Given the description of an element on the screen output the (x, y) to click on. 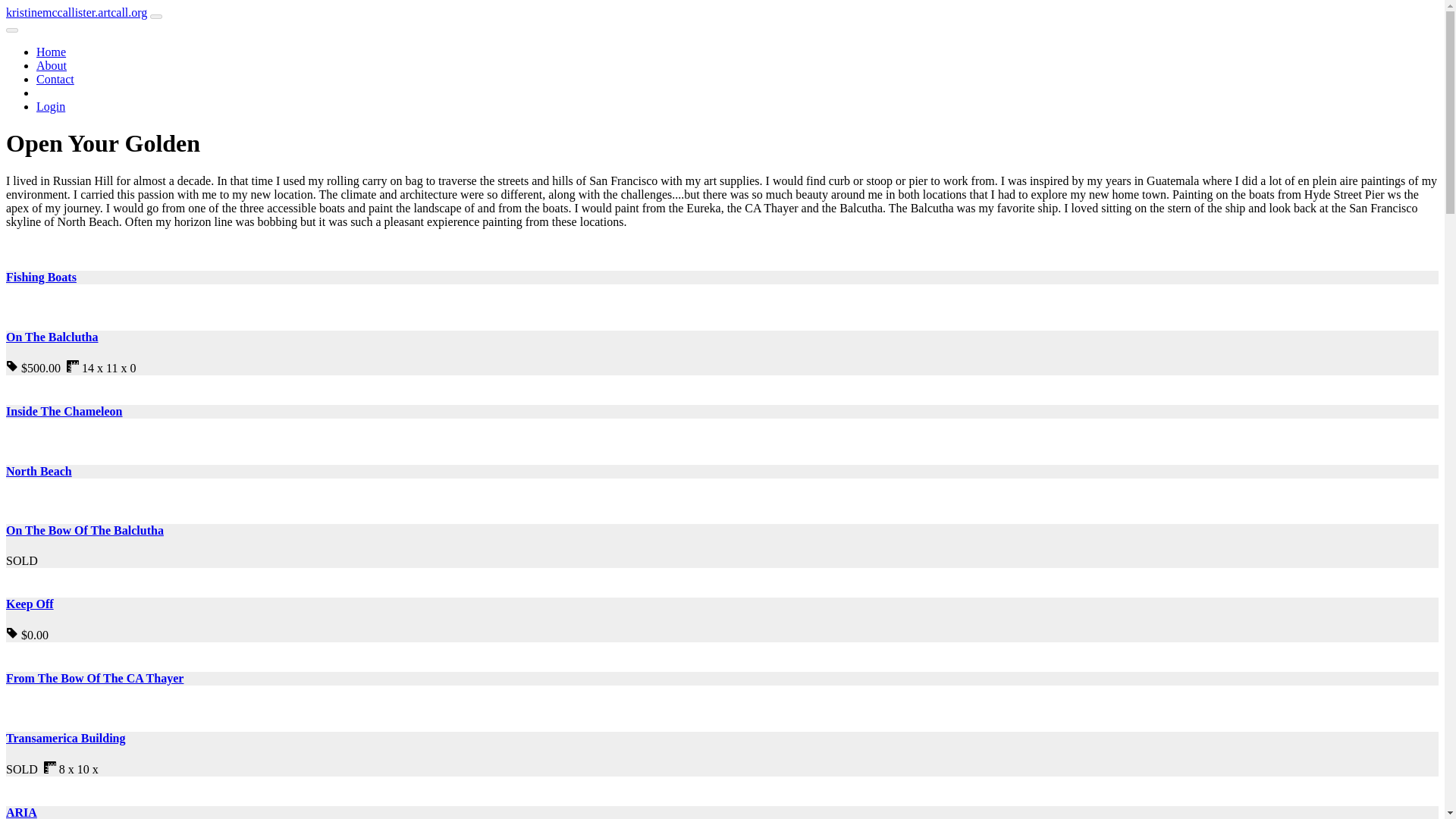
ARIA (21, 812)
Home (50, 51)
Fishing Boats (41, 277)
Transamerica Building (65, 738)
Login (50, 106)
Contact (55, 78)
kristinemccallister.artcall.org (76, 11)
About (51, 65)
From The Bow Of The CA Thayer (94, 677)
Inside The Chameleon (63, 410)
